Given the description of an element on the screen output the (x, y) to click on. 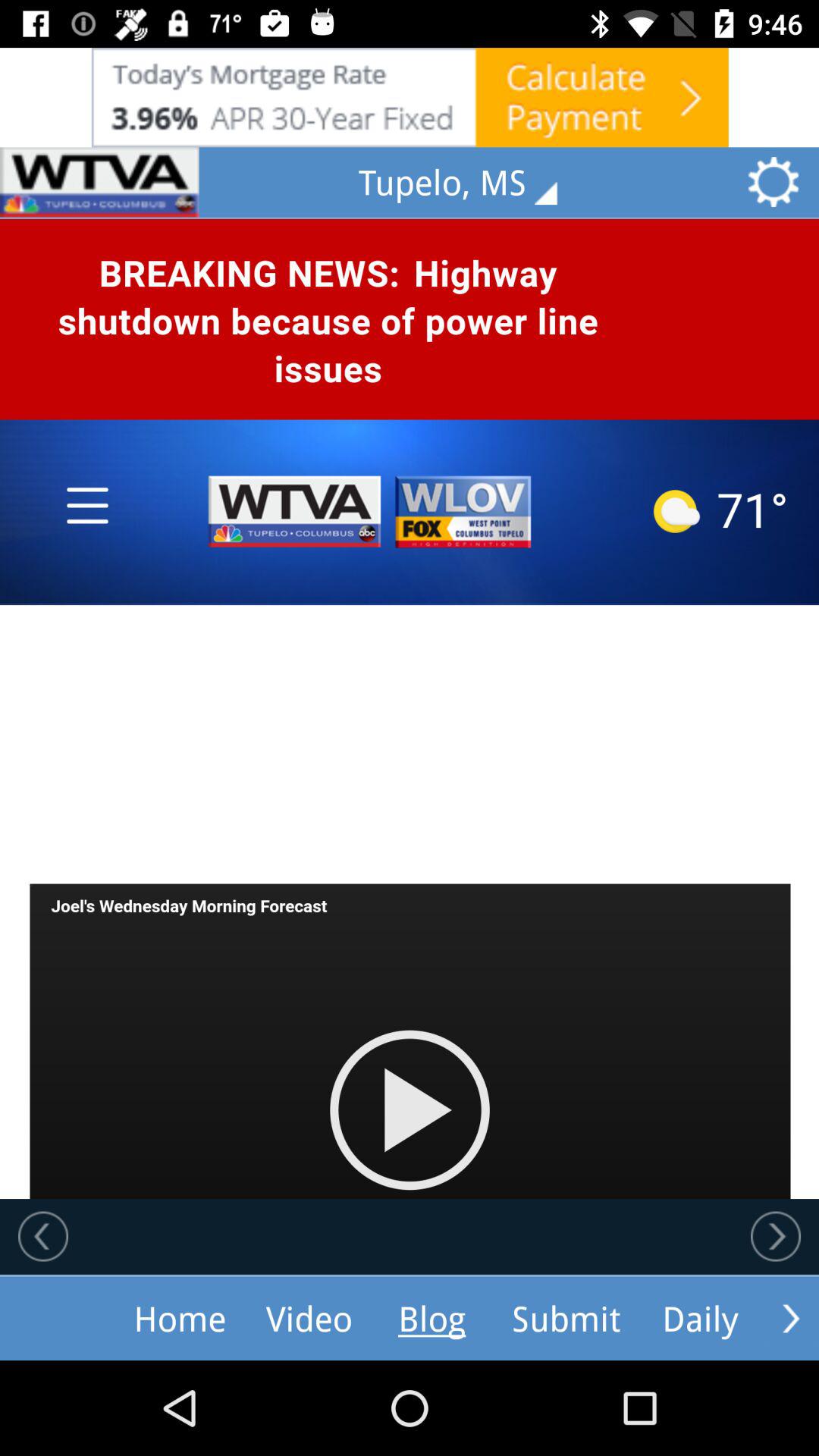
go to the advertised website (409, 97)
